Given the description of an element on the screen output the (x, y) to click on. 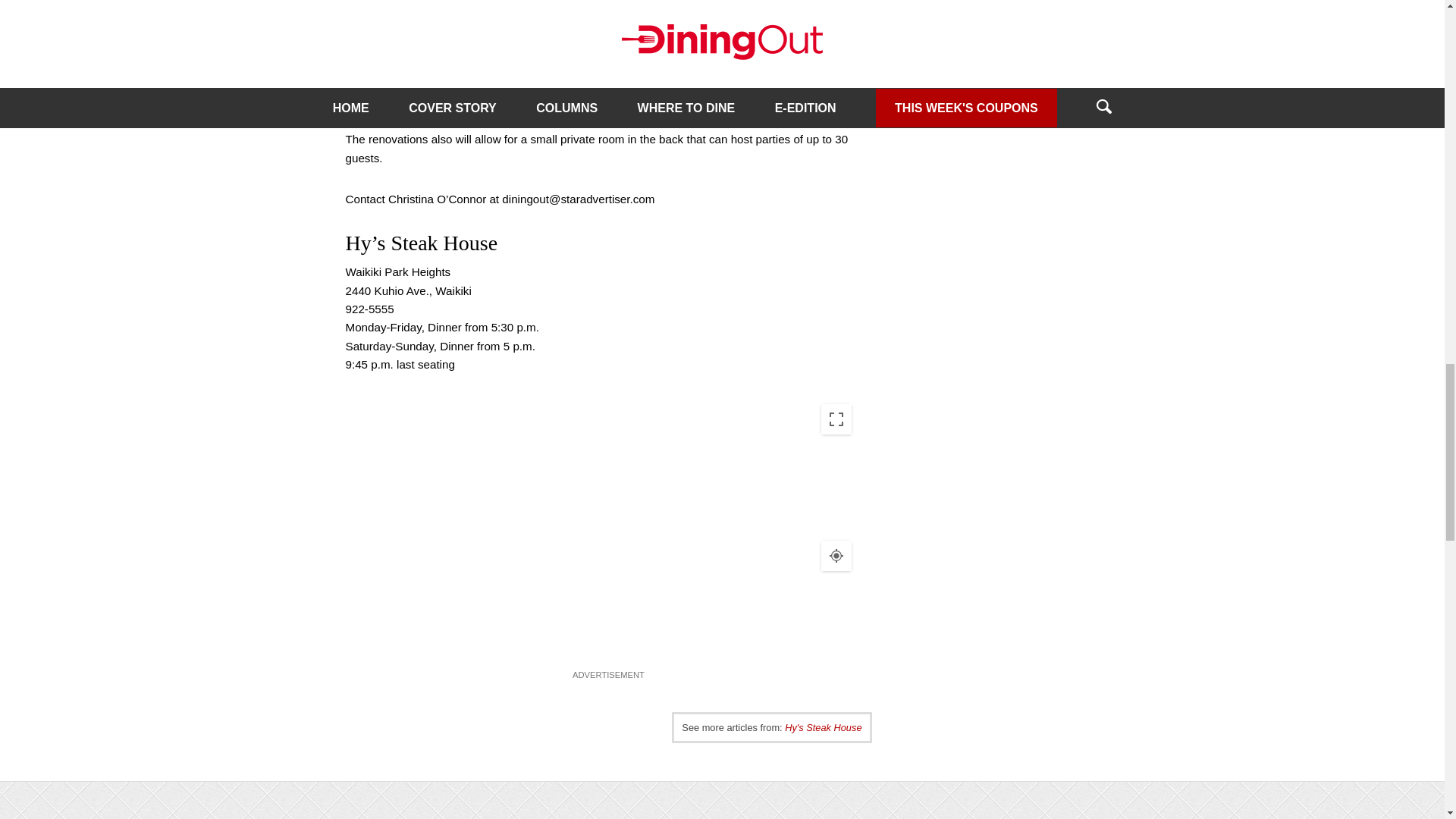
Toggle fullscreen view (835, 419)
Your Location (835, 555)
Hy's Steak House (822, 727)
